Given the description of an element on the screen output the (x, y) to click on. 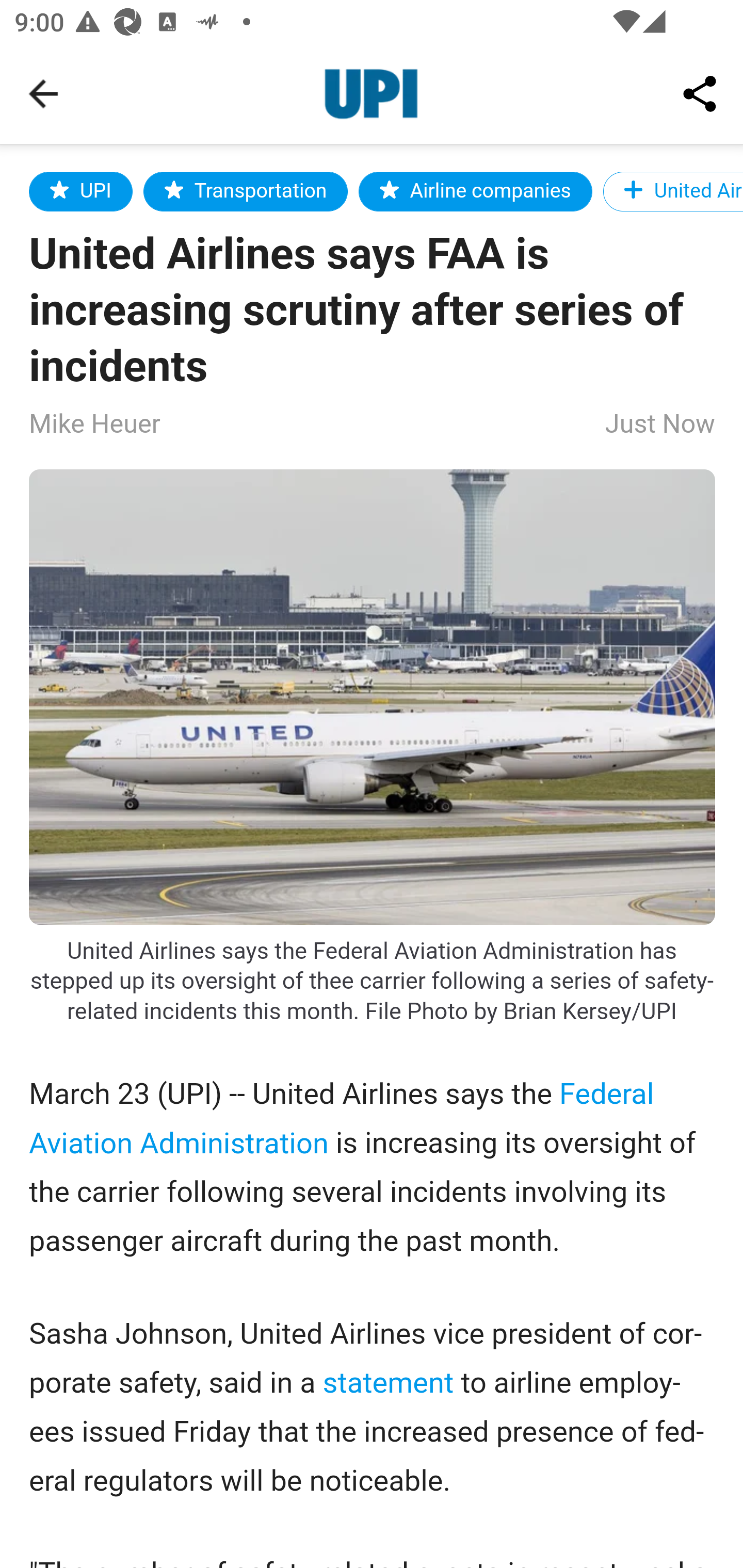
UPI (80, 191)
Transportation (245, 191)
Airline companies (474, 191)
United Airlines (672, 191)
Federal Aviation Administration (341, 1118)
statement (387, 1382)
